Given the description of an element on the screen output the (x, y) to click on. 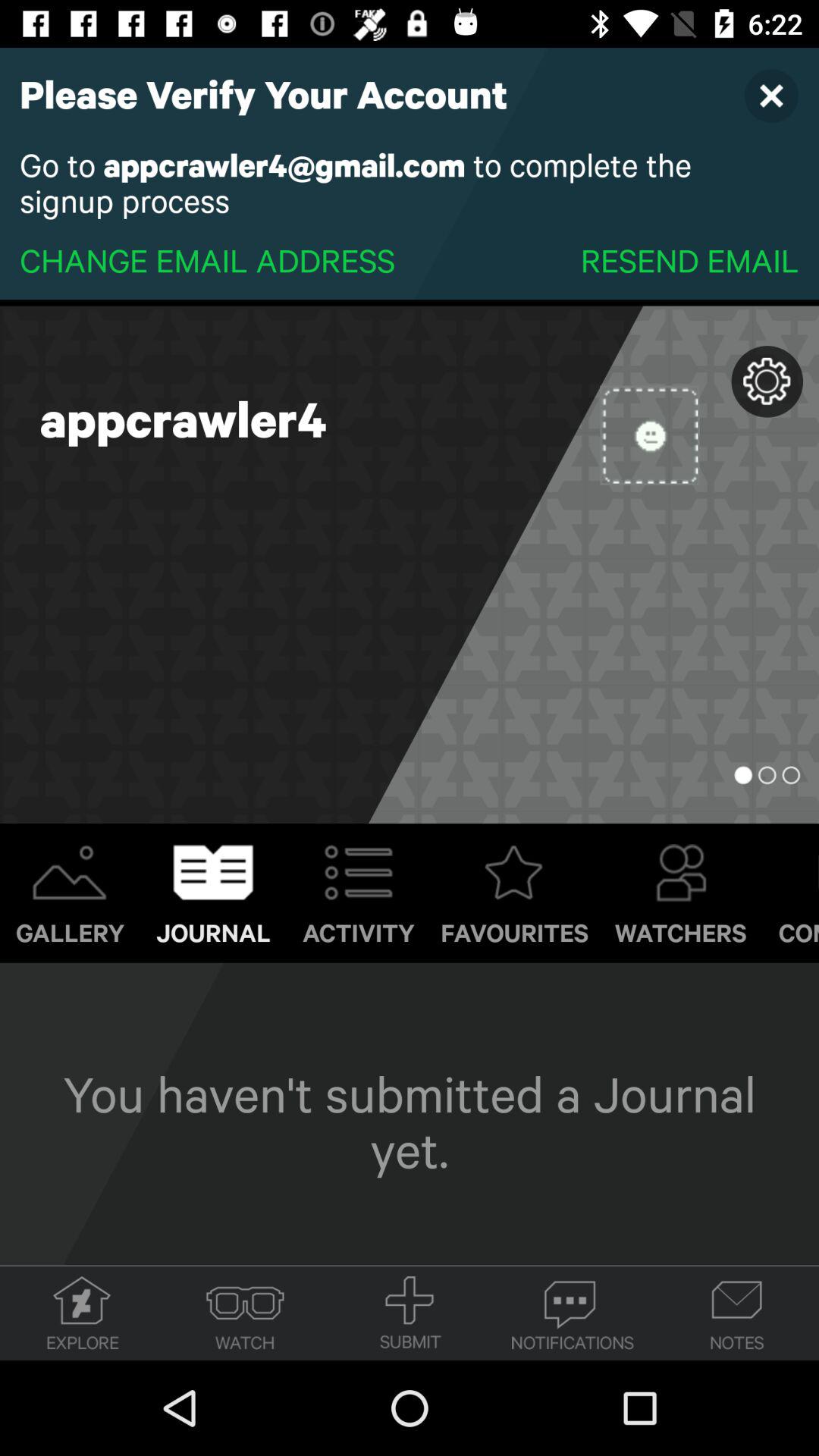
select change email address (207, 259)
